Given the description of an element on the screen output the (x, y) to click on. 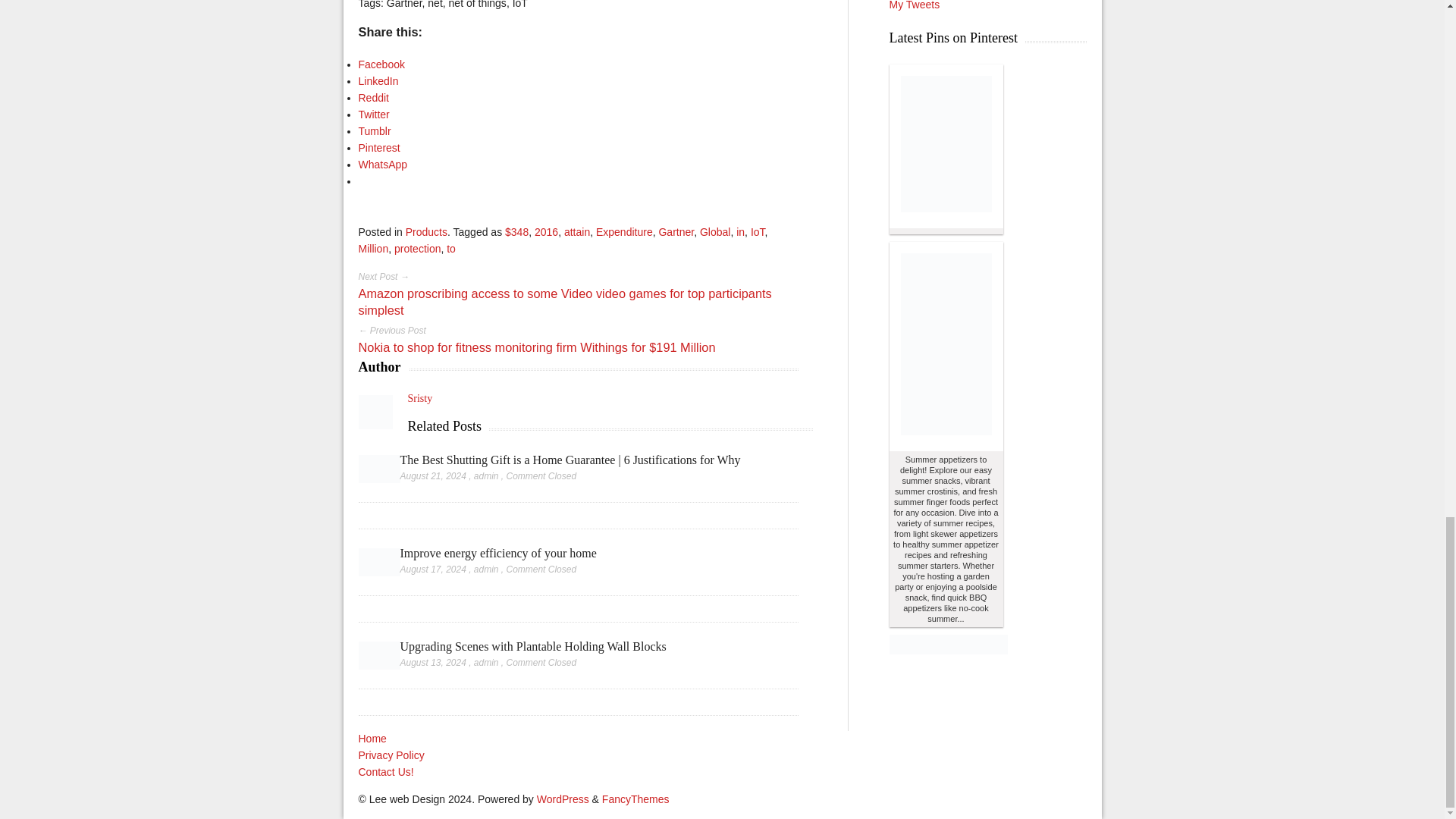
Upgrading Scenes with Plantable Holding Wall Blocks (533, 645)
Expenditure (623, 232)
Improve energy efficiency of your home (498, 553)
Million (373, 248)
Click to share on Reddit (373, 97)
Twitter (373, 114)
protection (417, 248)
Sristy (419, 398)
Facebook (381, 64)
Tumblr (374, 131)
